Given the description of an element on the screen output the (x, y) to click on. 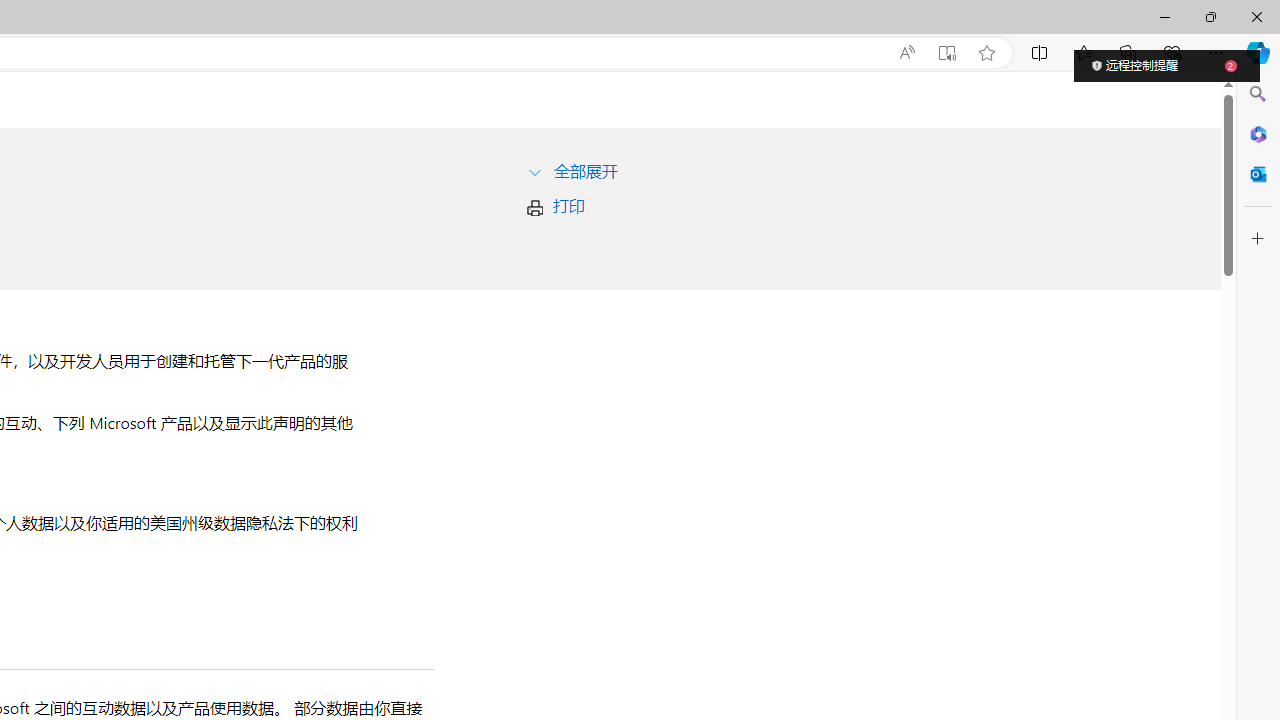
Outlook (1258, 174)
